Given the description of an element on the screen output the (x, y) to click on. 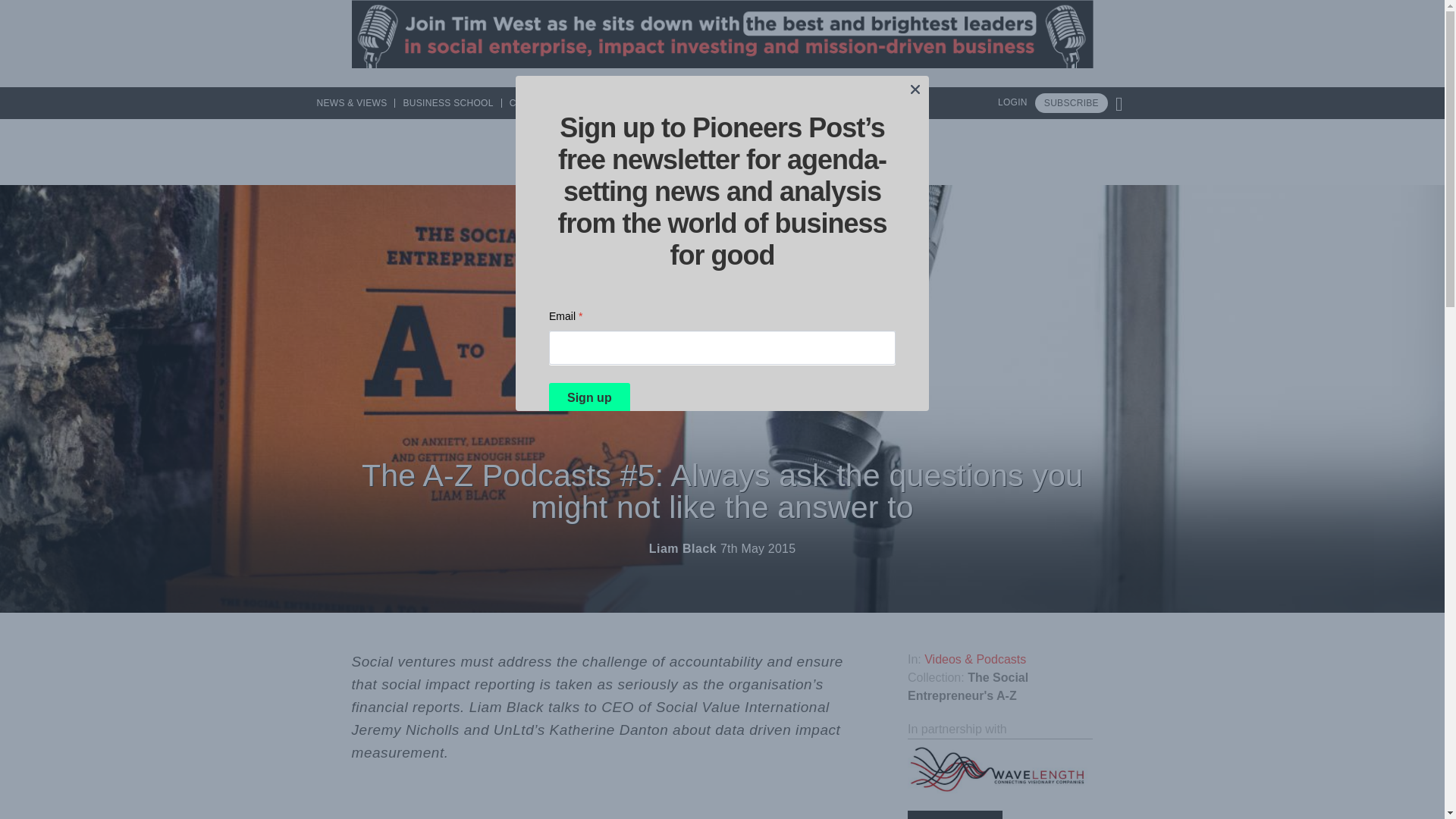
View profile for Liam Black (682, 548)
BUSINESS SCHOOL (447, 102)
Wavelength (1000, 768)
COLLECTIONS (543, 102)
PUBLICATIONS (742, 102)
Liam Black (682, 548)
EVENTS (811, 102)
LOGIN (1012, 102)
The Social Entrepreneur's A-Z (967, 685)
SUBSCRIBE (1071, 103)
ABOUT (857, 102)
The Social Entrepreneur's A-Z (967, 685)
